Given the description of an element on the screen output the (x, y) to click on. 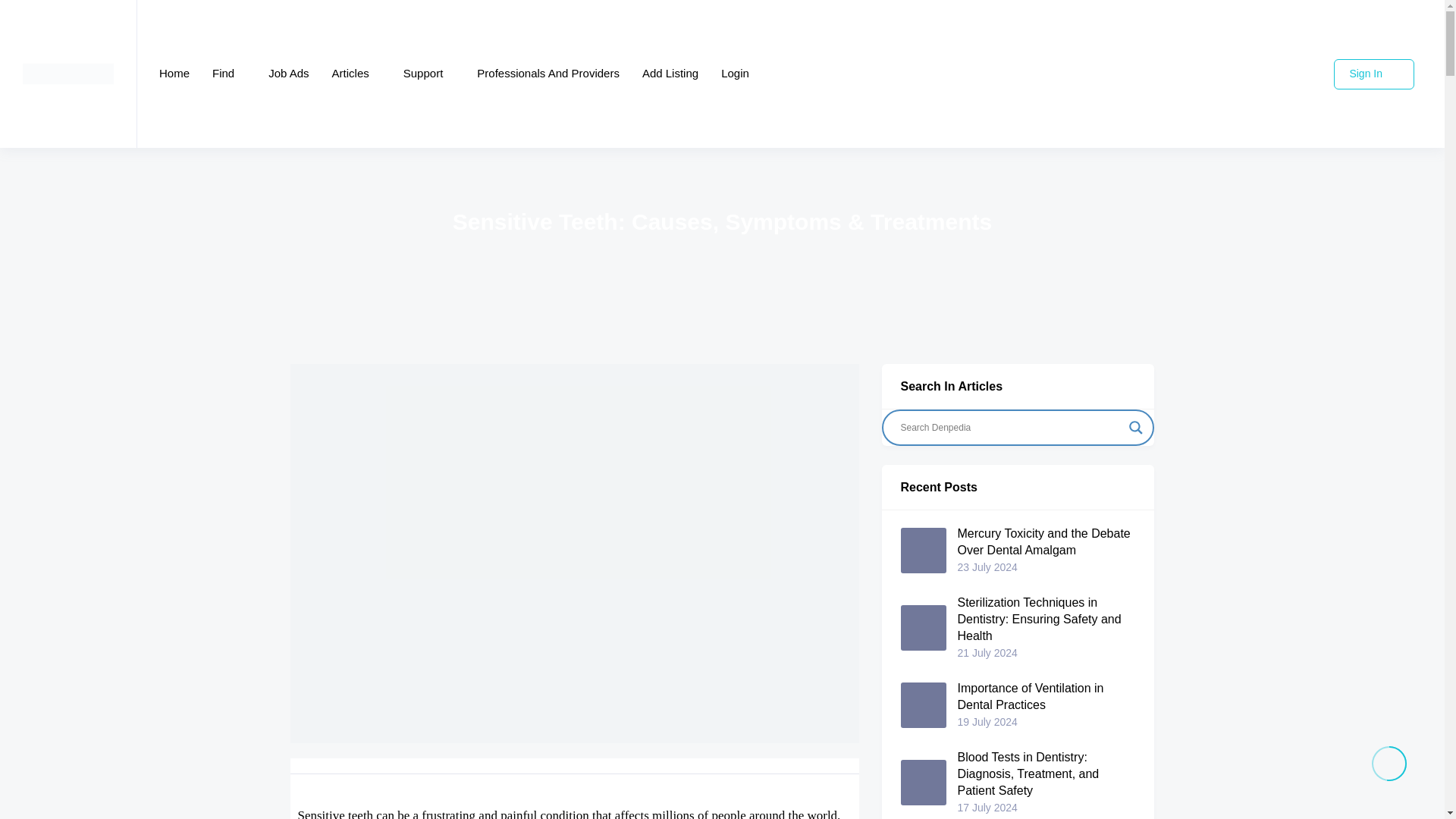
Professionals And Providers (548, 73)
Add Listing (670, 73)
Find (229, 73)
Job Ads (287, 73)
Home (173, 73)
Support (428, 73)
Login (734, 73)
Articles (355, 73)
Sign In (1373, 73)
